Given the description of an element on the screen output the (x, y) to click on. 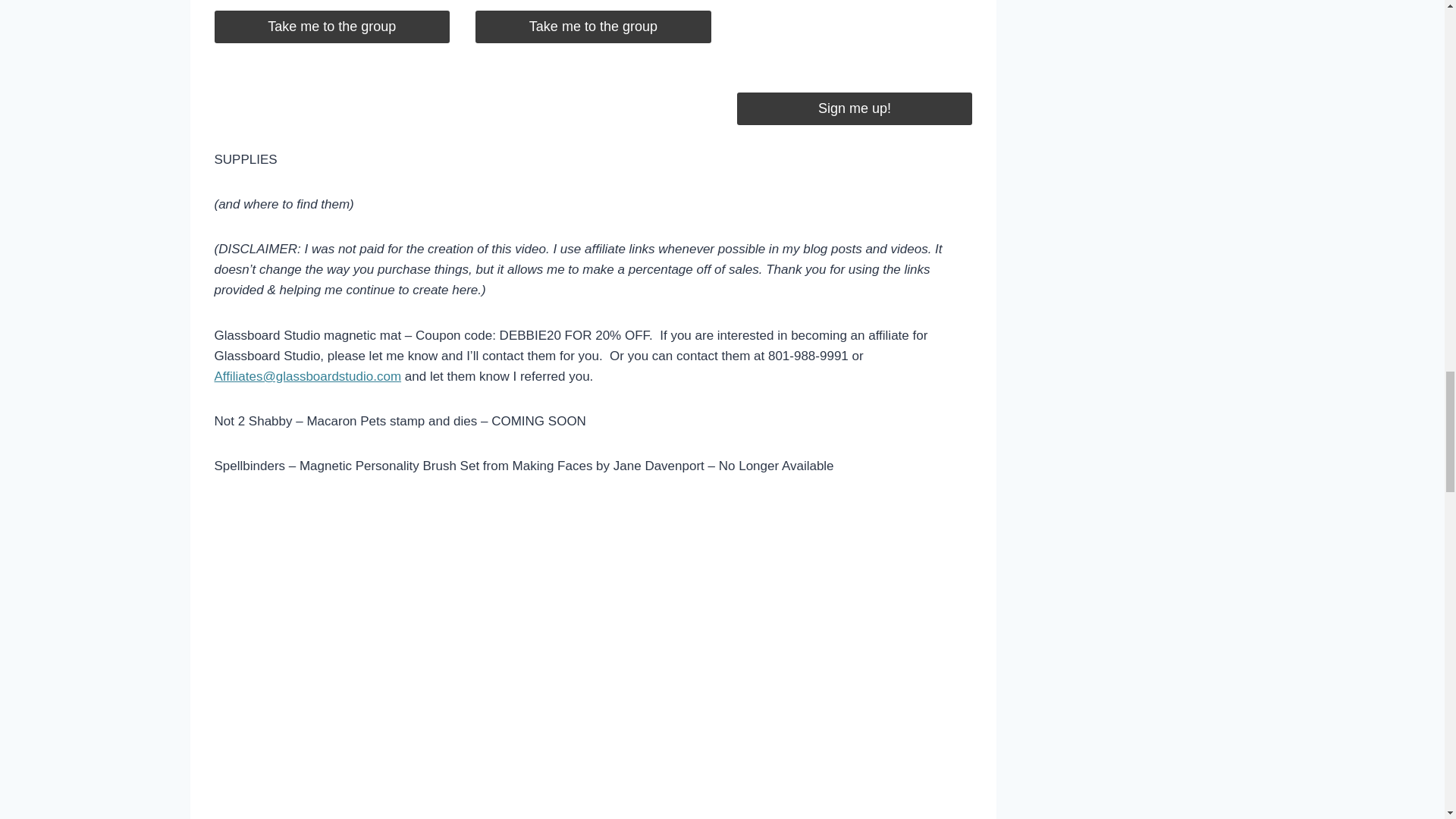
Take me to the group (593, 26)
Take me to the group (331, 26)
Sign me up! (854, 108)
